Given the description of an element on the screen output the (x, y) to click on. 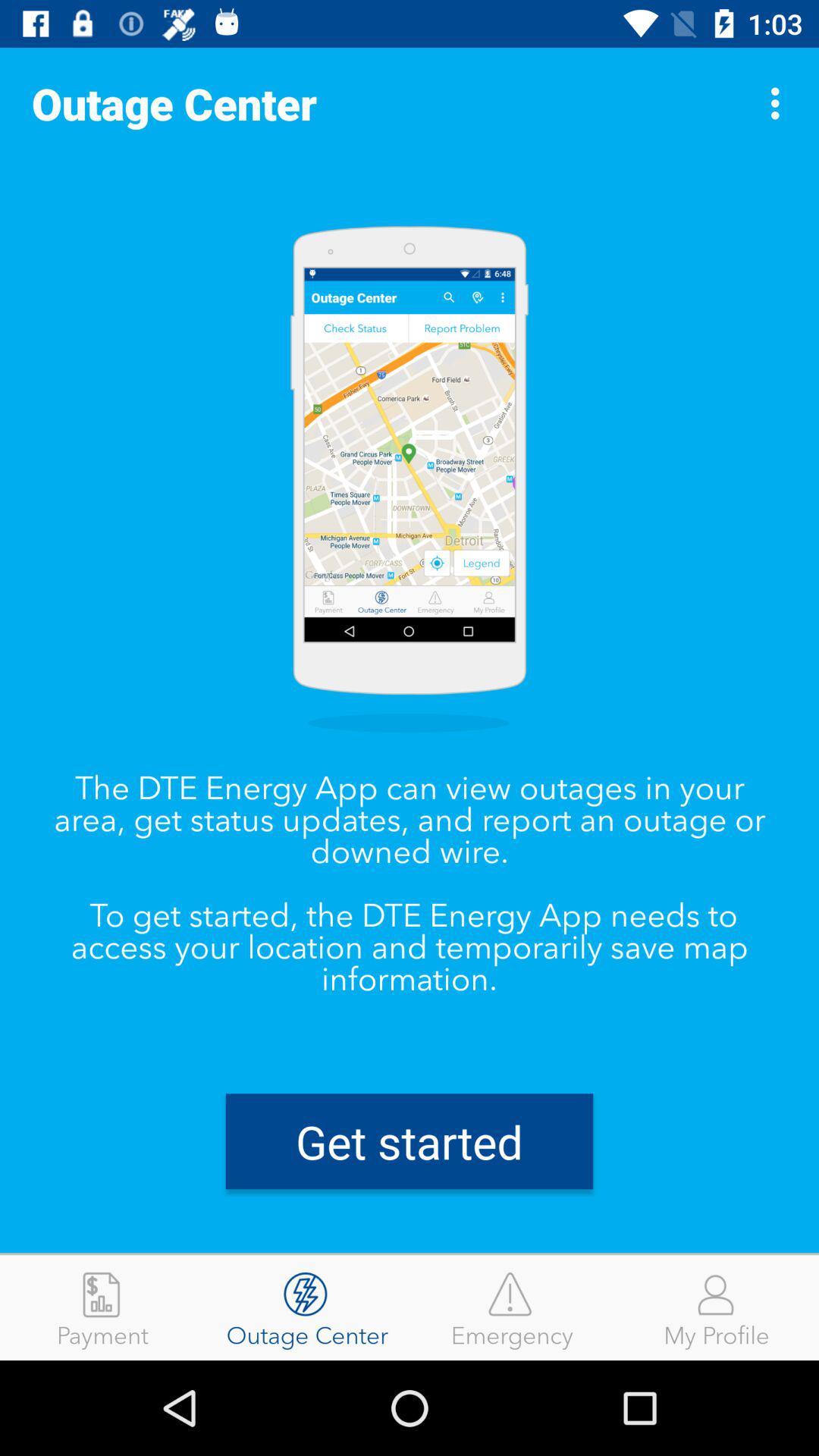
tap emergency item (511, 1307)
